Given the description of an element on the screen output the (x, y) to click on. 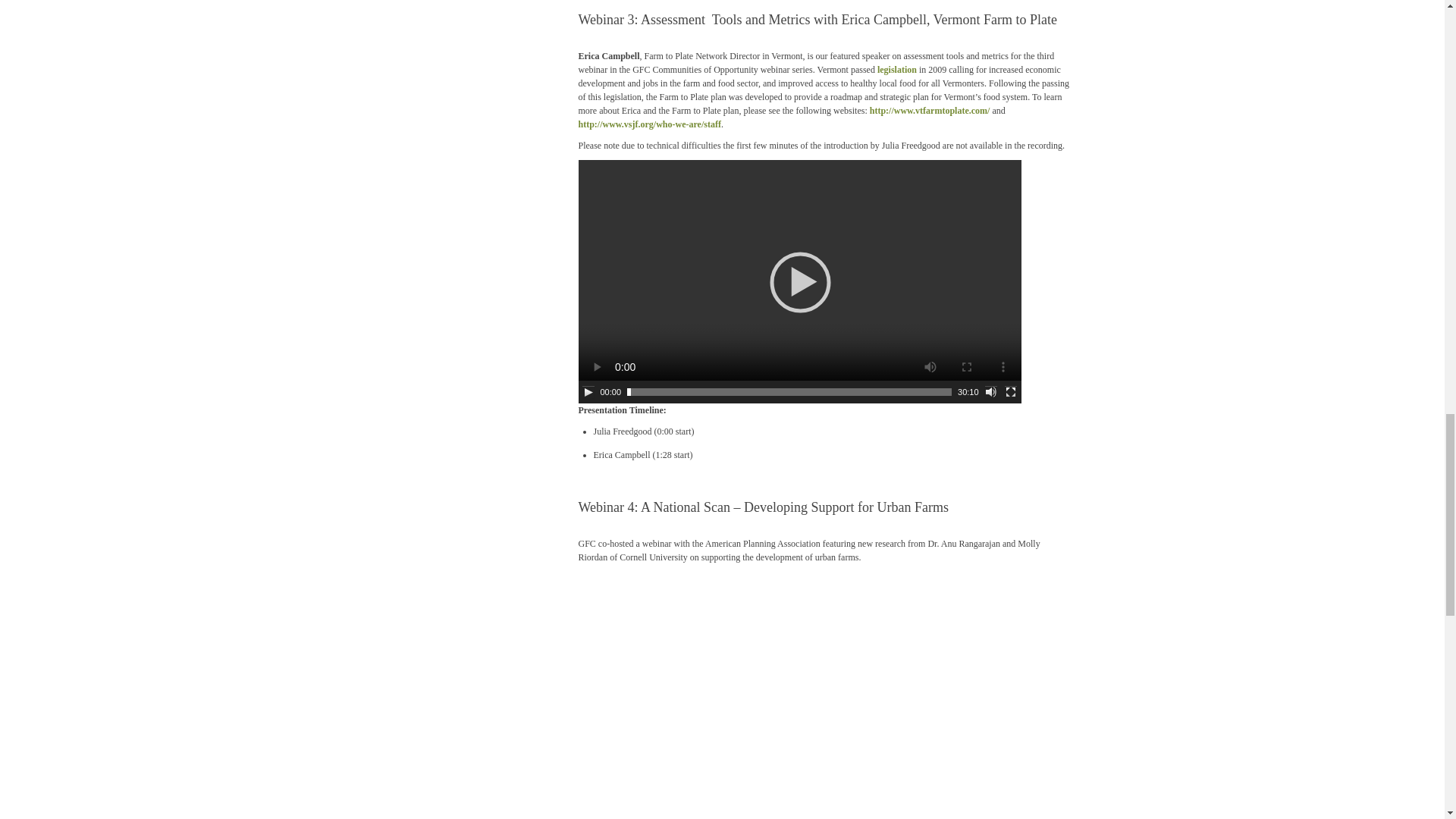
Mute (991, 391)
Play (588, 391)
Fullscreen (1010, 391)
